Given the description of an element on the screen output the (x, y) to click on. 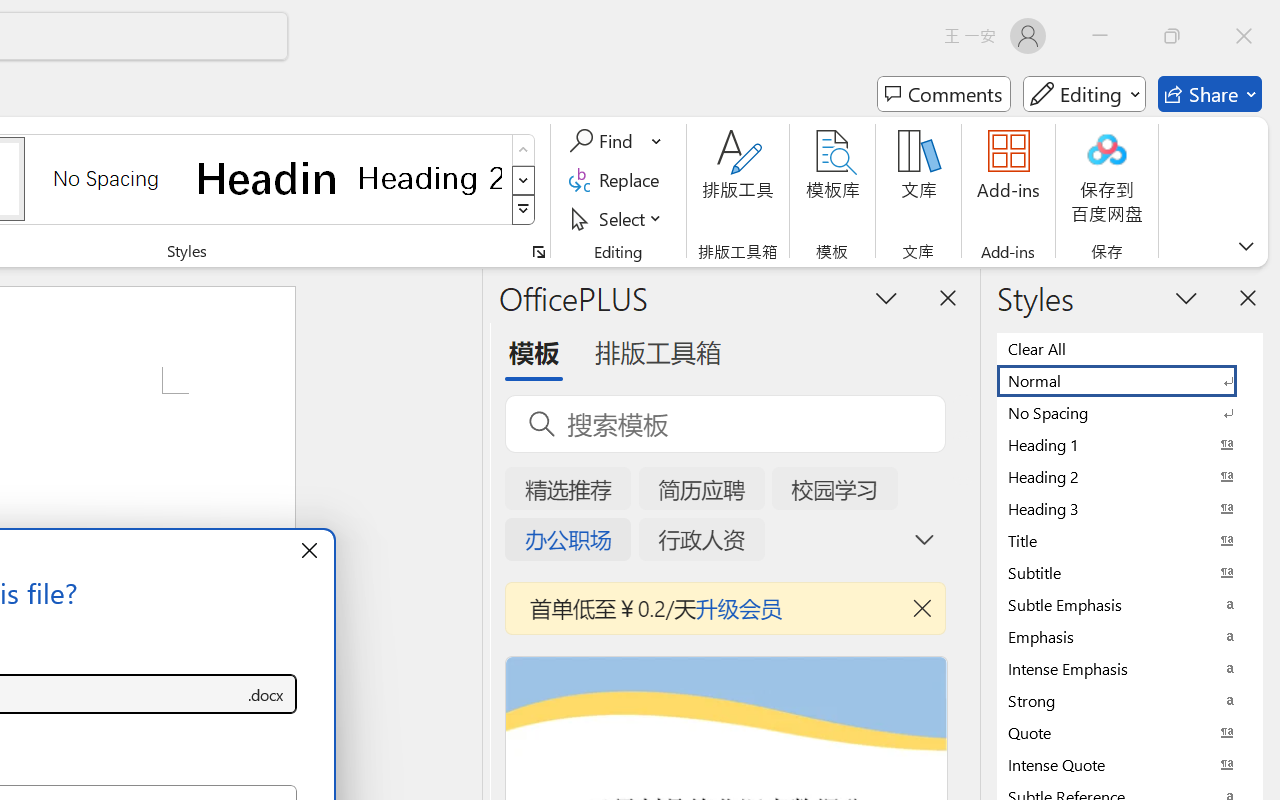
Subtitle (1130, 572)
Ribbon Display Options (1246, 245)
Styles... (538, 252)
Intense Emphasis (1130, 668)
Save as type (265, 694)
Styles (523, 209)
Find (616, 141)
Heading 2 (429, 178)
Mode (1083, 94)
Quote (1130, 732)
Clear All (1130, 348)
